Given the description of an element on the screen output the (x, y) to click on. 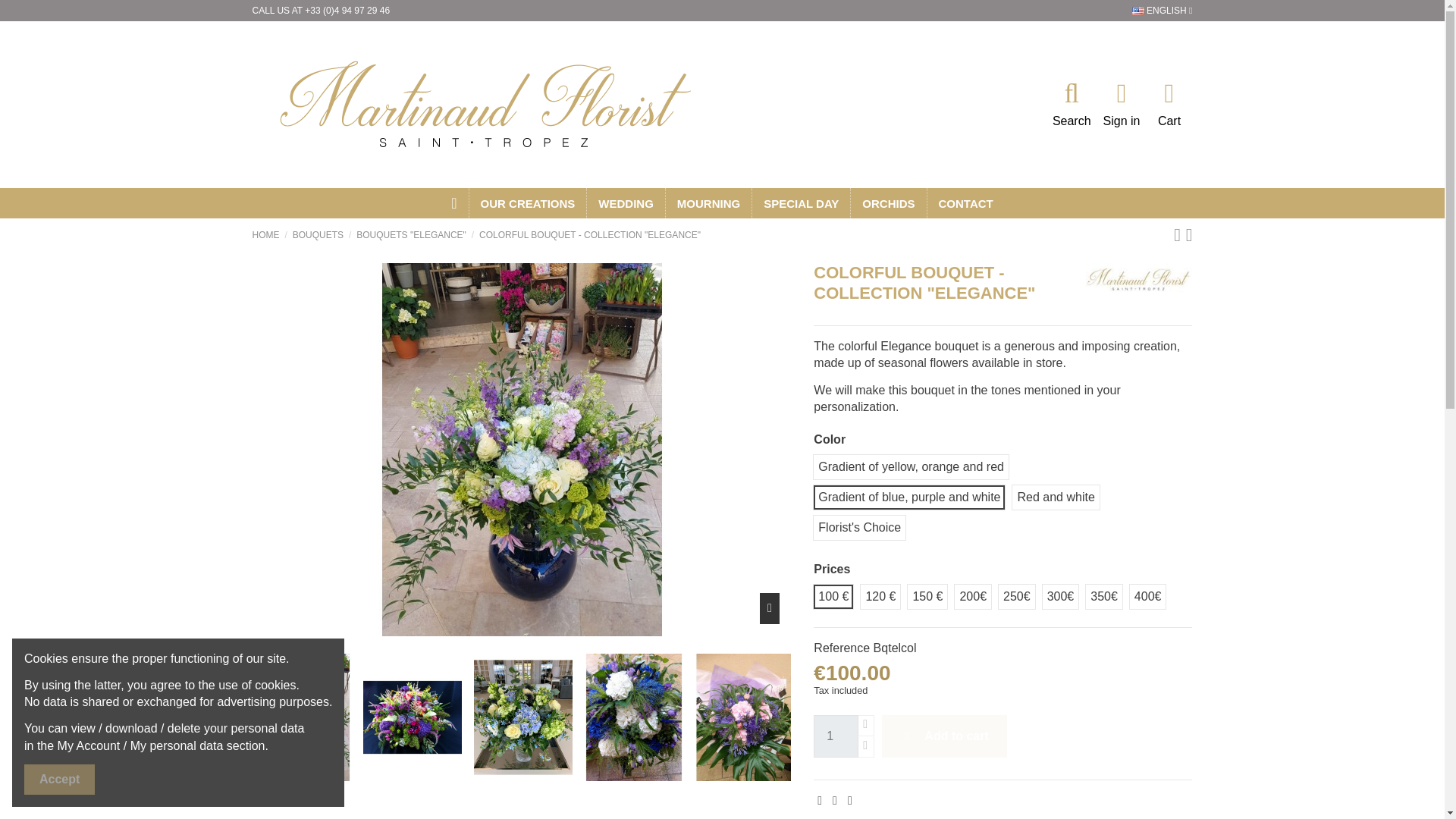
MOURNING (708, 203)
WEDDING (625, 203)
OUR CREATIONS (527, 203)
CONTACT (965, 203)
ORCHIDS (888, 203)
SPECIAL DAY (800, 203)
1 (836, 735)
ENGLISH (1162, 9)
